Given the description of an element on the screen output the (x, y) to click on. 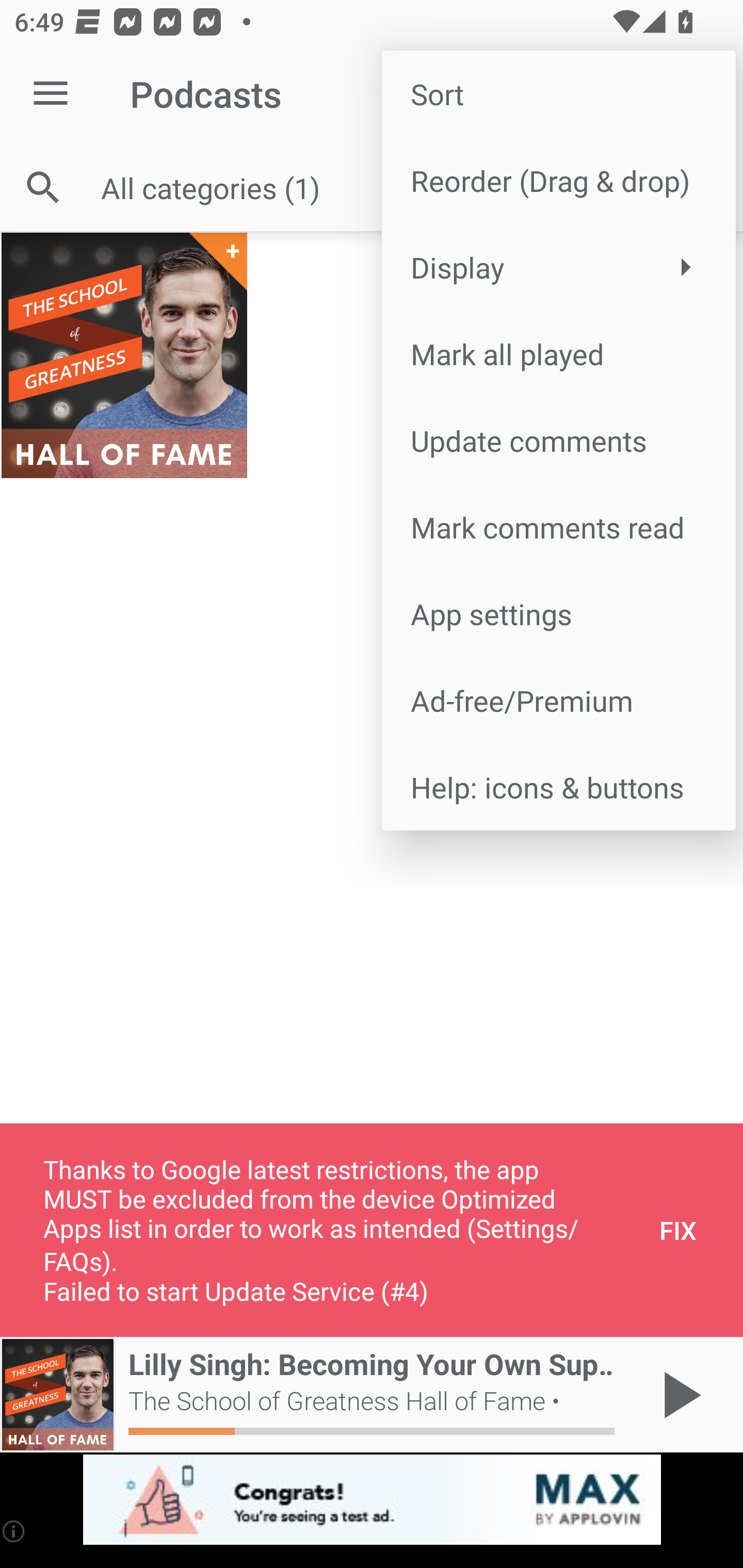
Sort (558, 93)
Reorder (Drag & drop) (558, 180)
Display (558, 267)
Mark all played (558, 353)
Update comments (558, 440)
Mark comments read (558, 527)
App settings (558, 613)
Ad-free/Premium (558, 699)
Help: icons & buttons (558, 787)
